Given the description of an element on the screen output the (x, y) to click on. 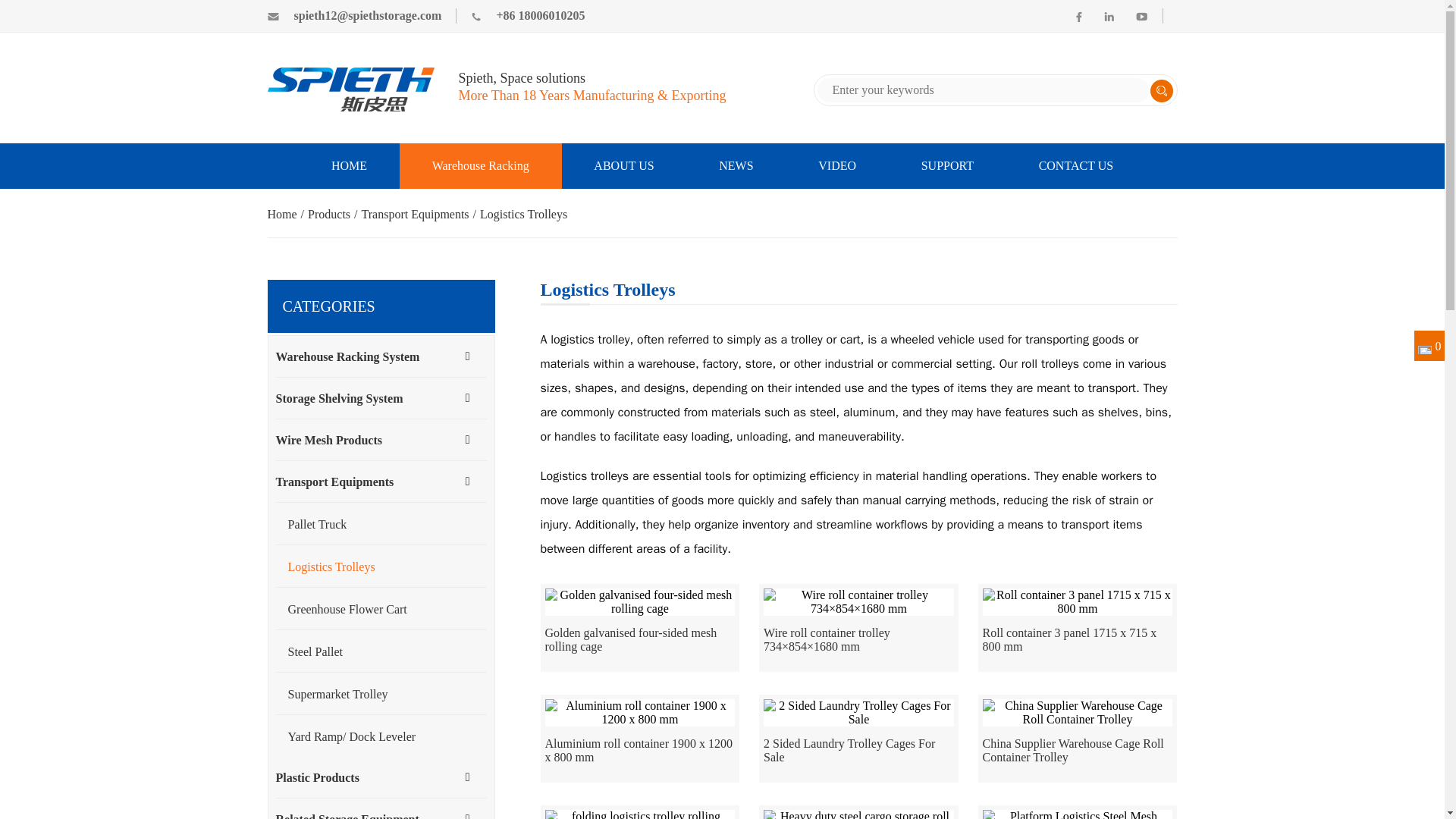
Warehouse Racking (480, 166)
